Given the description of an element on the screen output the (x, y) to click on. 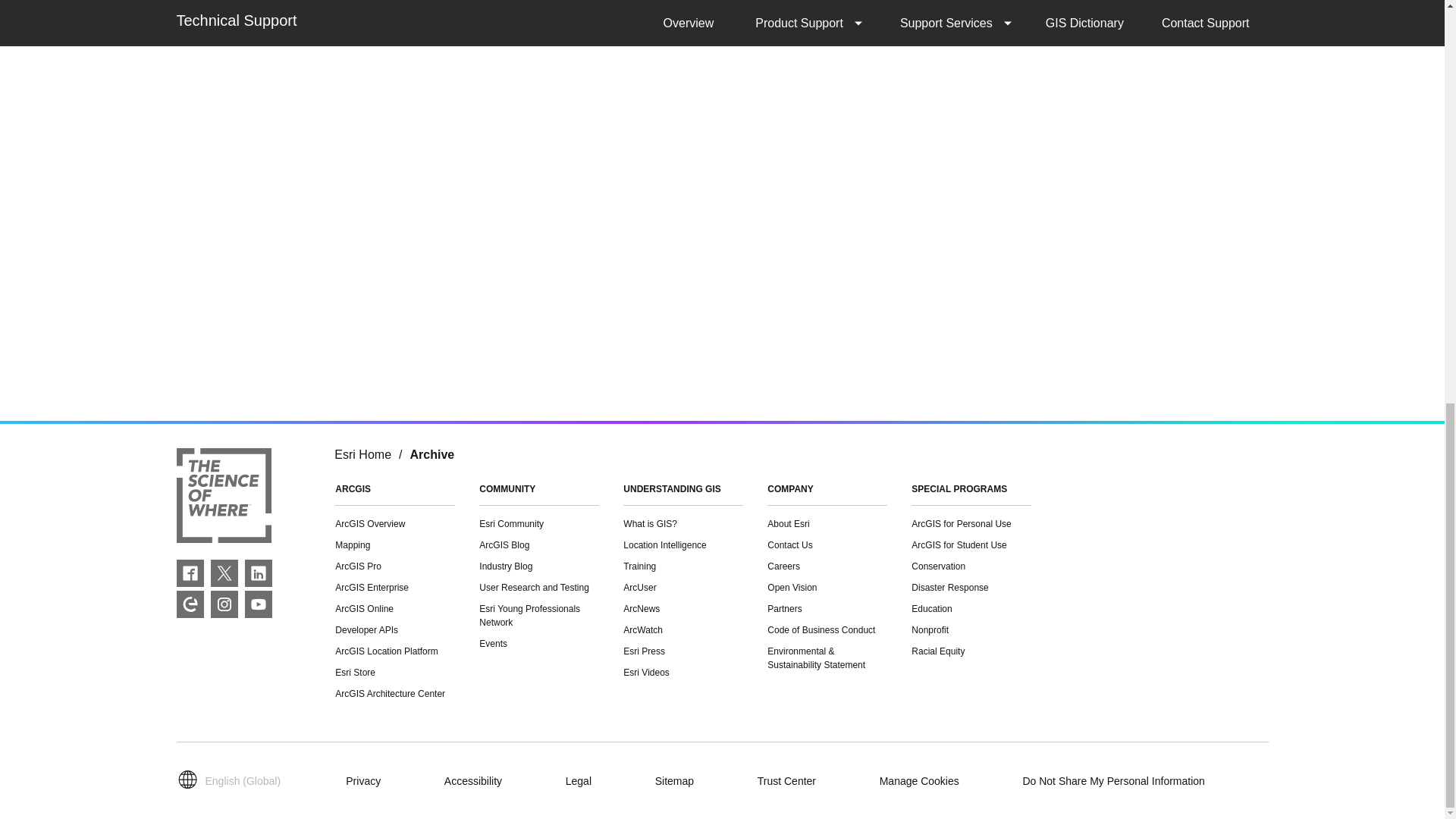
Esri Community (189, 604)
LinkedInLinkedIn (257, 573)
Twitter (224, 573)
Switch Language (232, 780)
TwitterTwitter (224, 573)
YouTube (257, 604)
Facebook (189, 573)
LinkedIn (257, 573)
FacebookFacebook (189, 573)
